Given the description of an element on the screen output the (x, y) to click on. 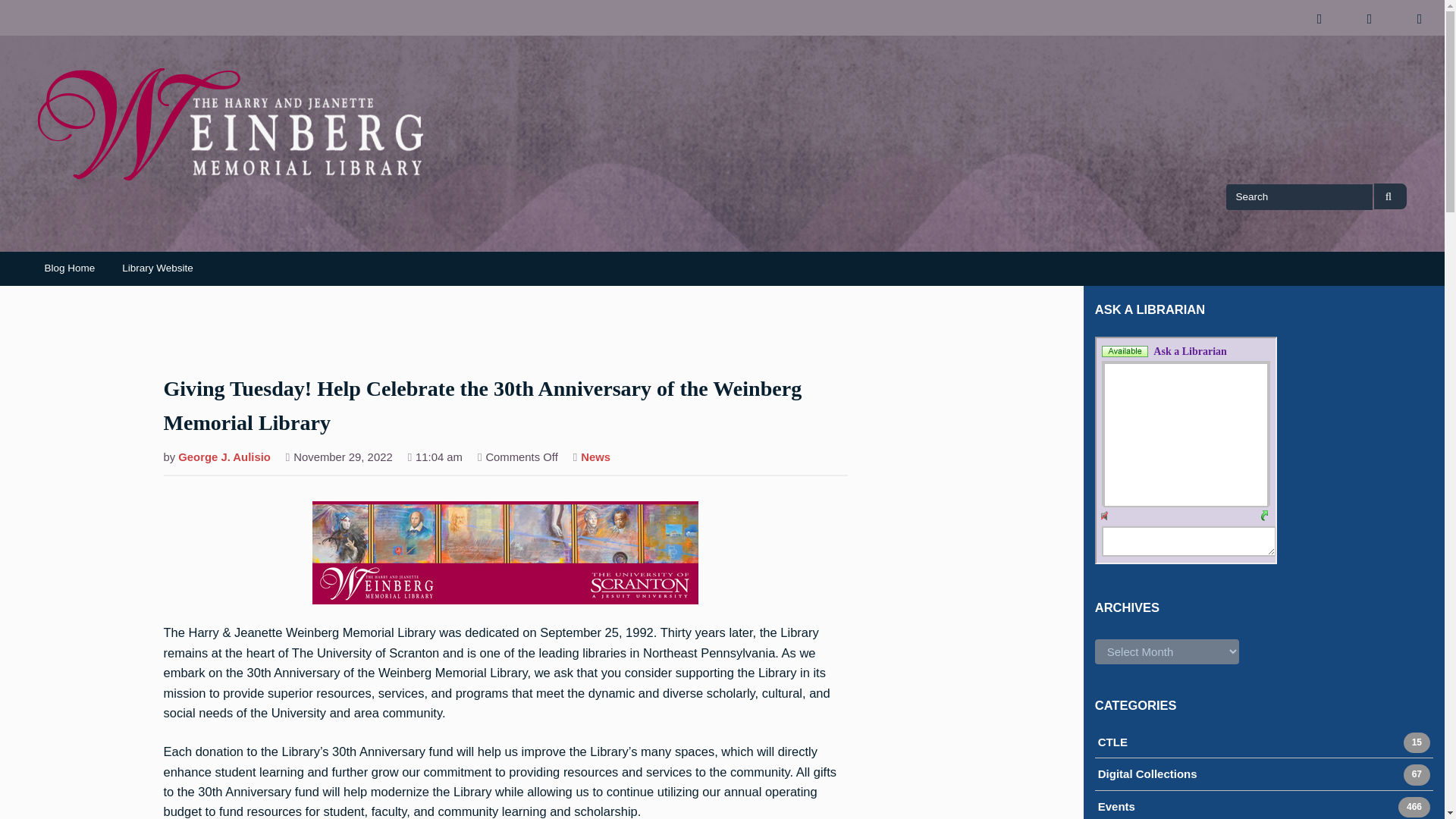
Facebook (1318, 18)
George J. Aulisio (1111, 743)
Posts by George J. Aulisio (1116, 807)
News (1146, 774)
Blog Home (223, 458)
Search (223, 458)
Library Website (595, 458)
UofSLibrary News (68, 268)
Tumblr (1390, 196)
